Given the description of an element on the screen output the (x, y) to click on. 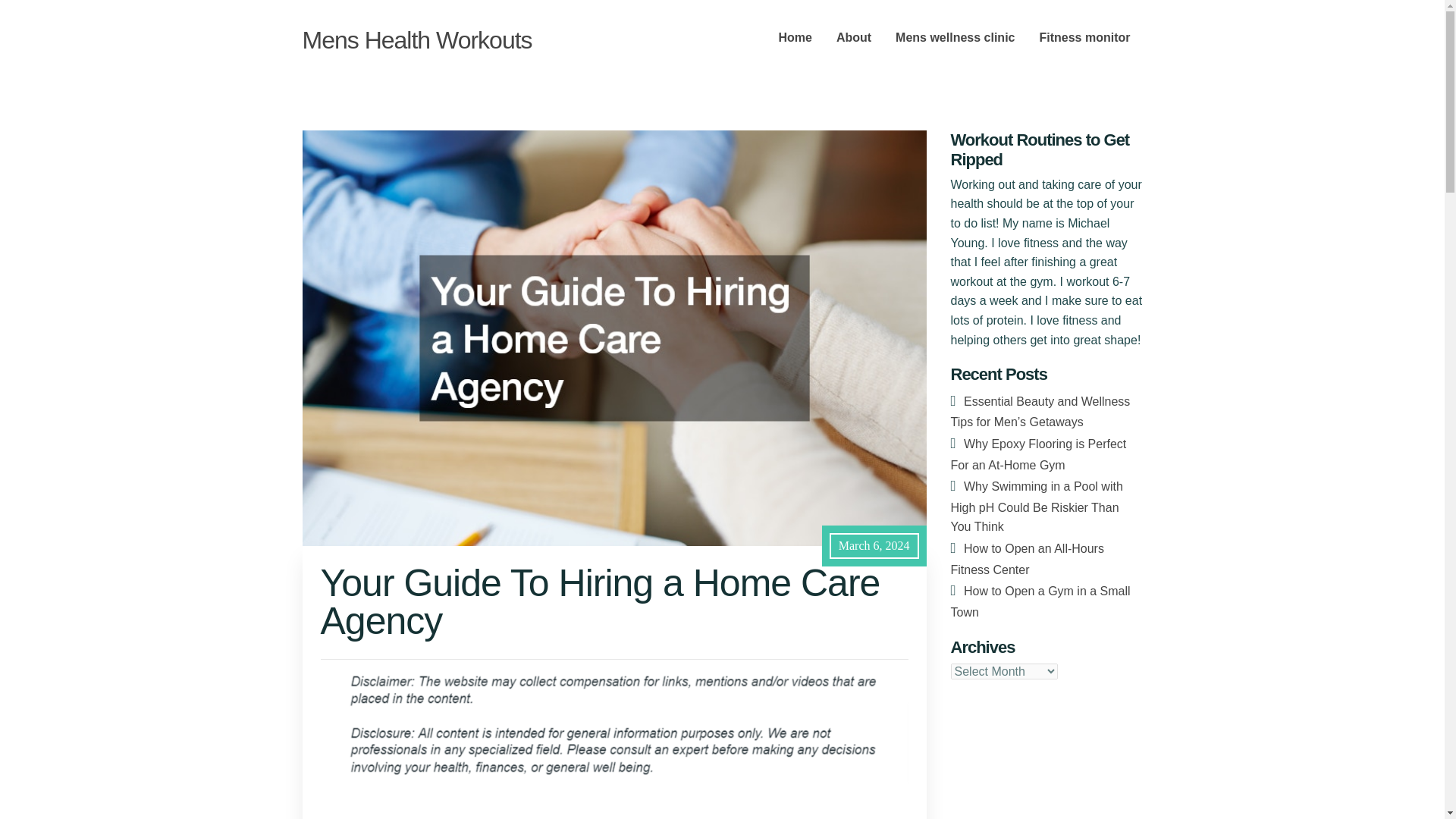
How to Open a Gym in a Small Town (1040, 601)
How to Open an All-Hours Fitness Center (1026, 559)
Why Epoxy Flooring is Perfect For an At-Home Gym (1038, 454)
About (853, 37)
Home (794, 37)
Mens Health Workouts (416, 39)
Fitness monitor (1083, 37)
Mens wellness clinic (954, 37)
